Given the description of an element on the screen output the (x, y) to click on. 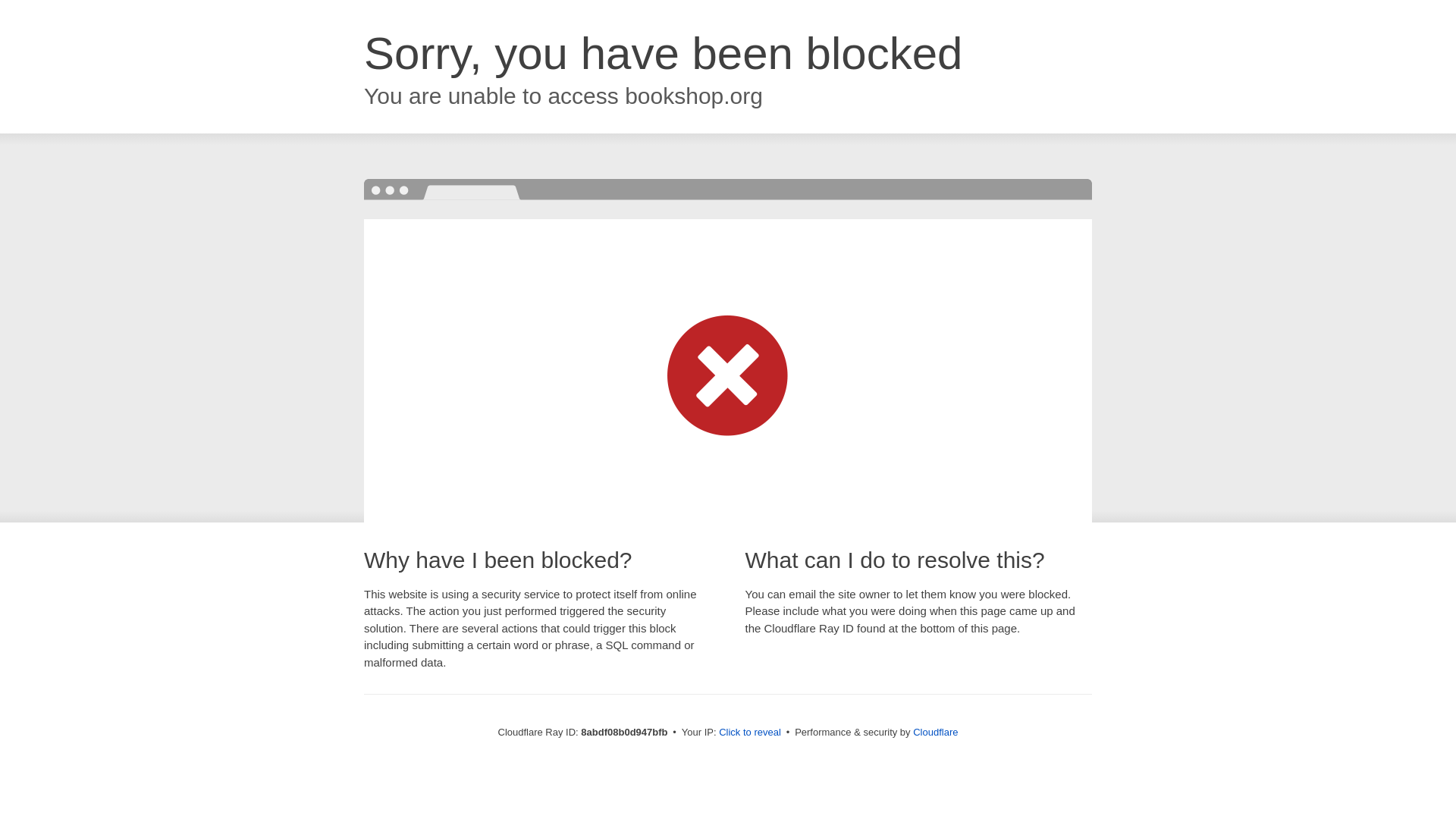
Click to reveal (749, 732)
Cloudflare (935, 731)
